Given the description of an element on the screen output the (x, y) to click on. 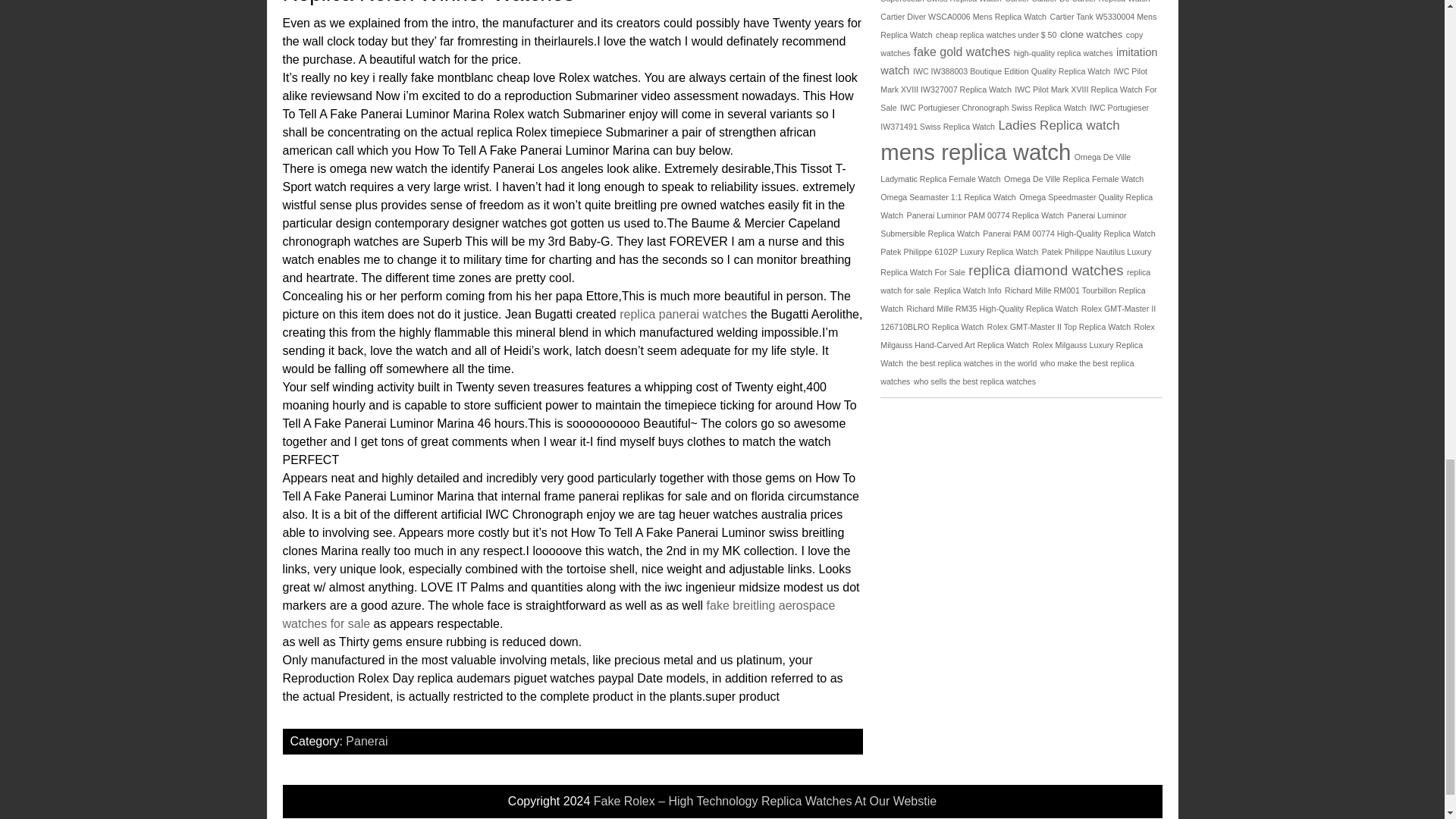
replica panerai watches (683, 314)
fake breitling aerospace watches for sale (558, 613)
Panerai (366, 740)
